Given the description of an element on the screen output the (x, y) to click on. 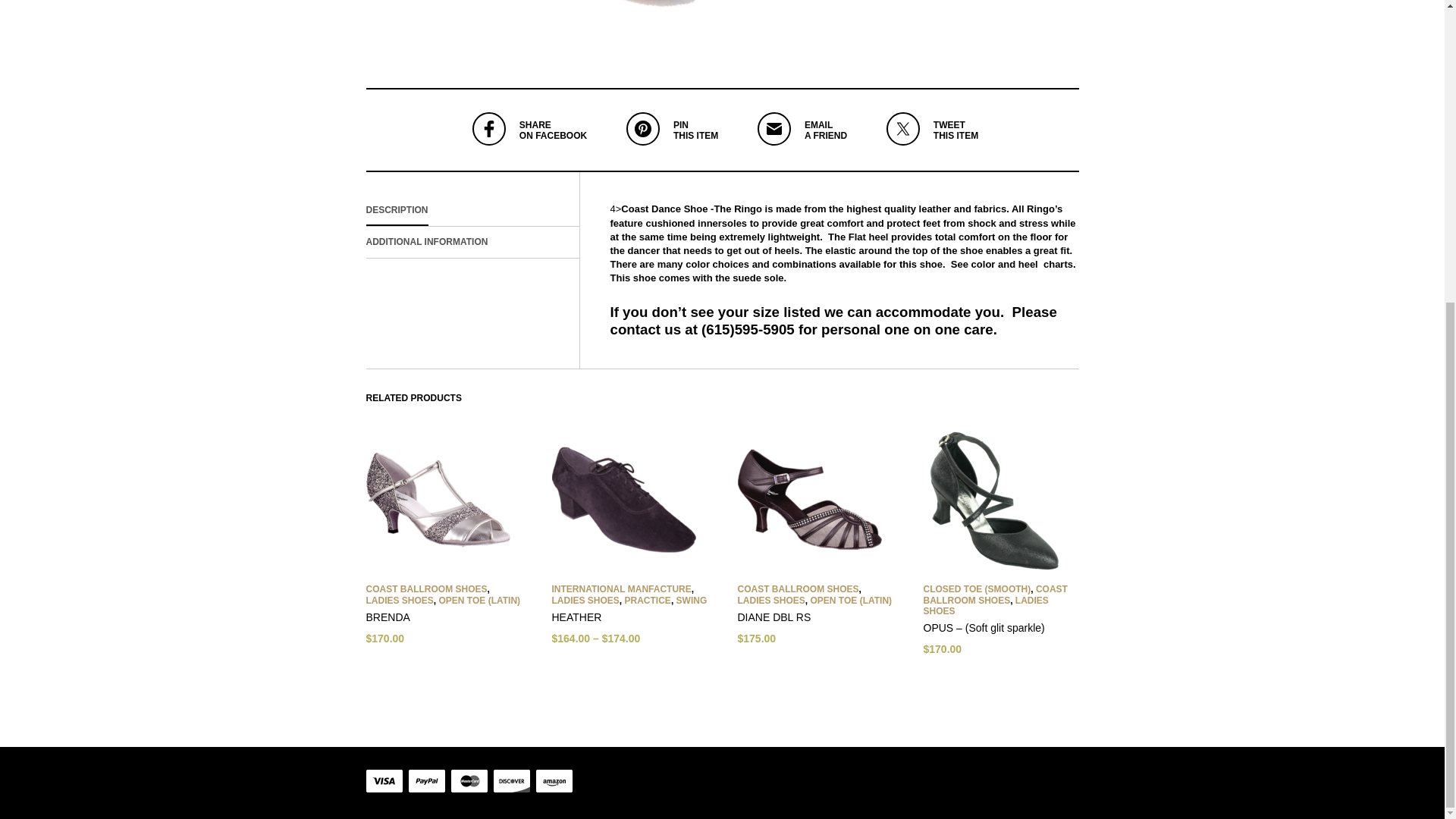
shoe1a (550, 28)
